Given the description of an element on the screen output the (x, y) to click on. 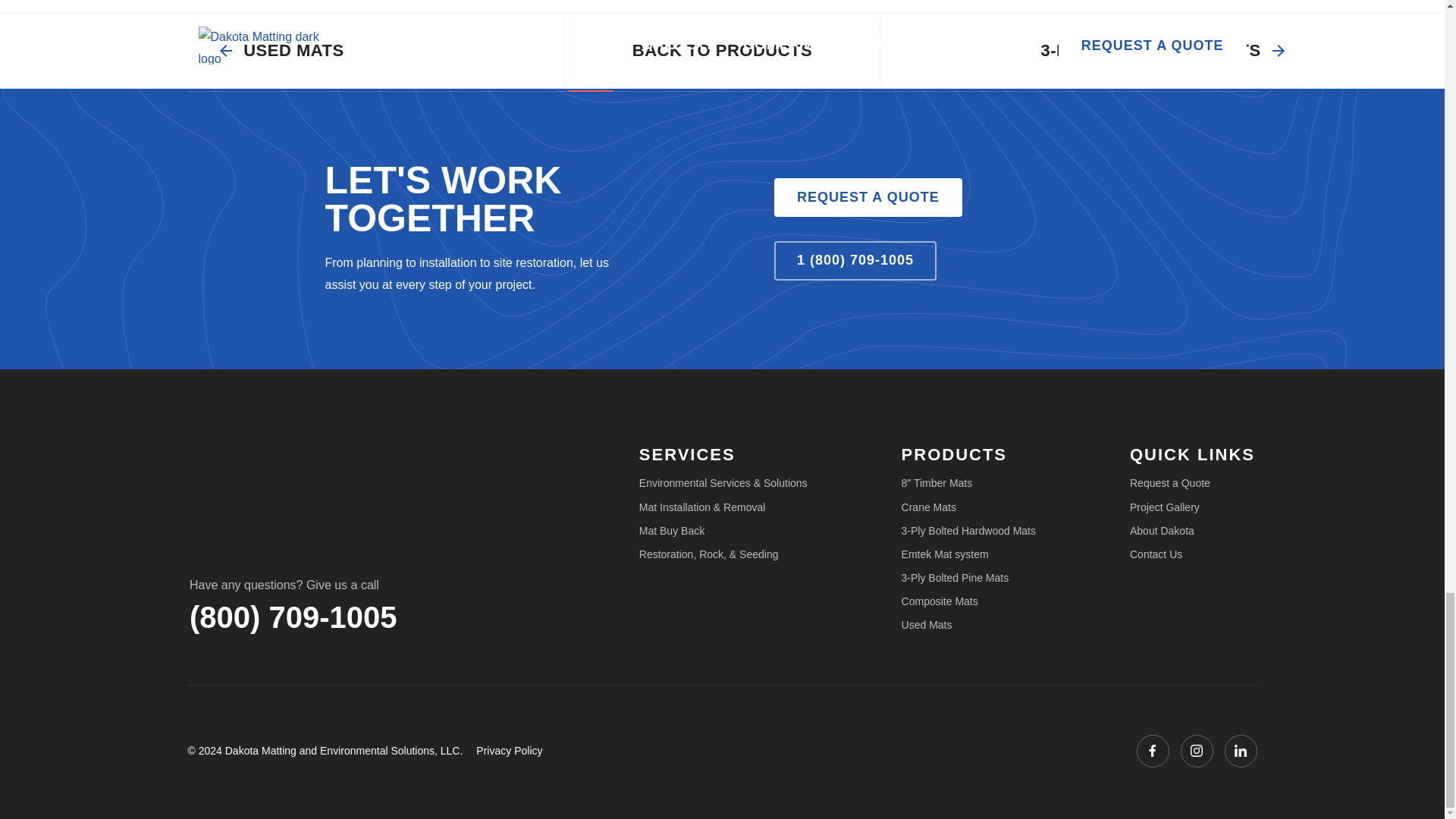
Mat Buy Back (671, 530)
REQUEST A QUOTE (868, 197)
USED MATS (282, 50)
Crane Mats (928, 506)
BACK TO PRODUCTS (722, 50)
Emtek Mat system (944, 554)
3-Ply Bolted Hardwood Mats (968, 530)
